Given the description of an element on the screen output the (x, y) to click on. 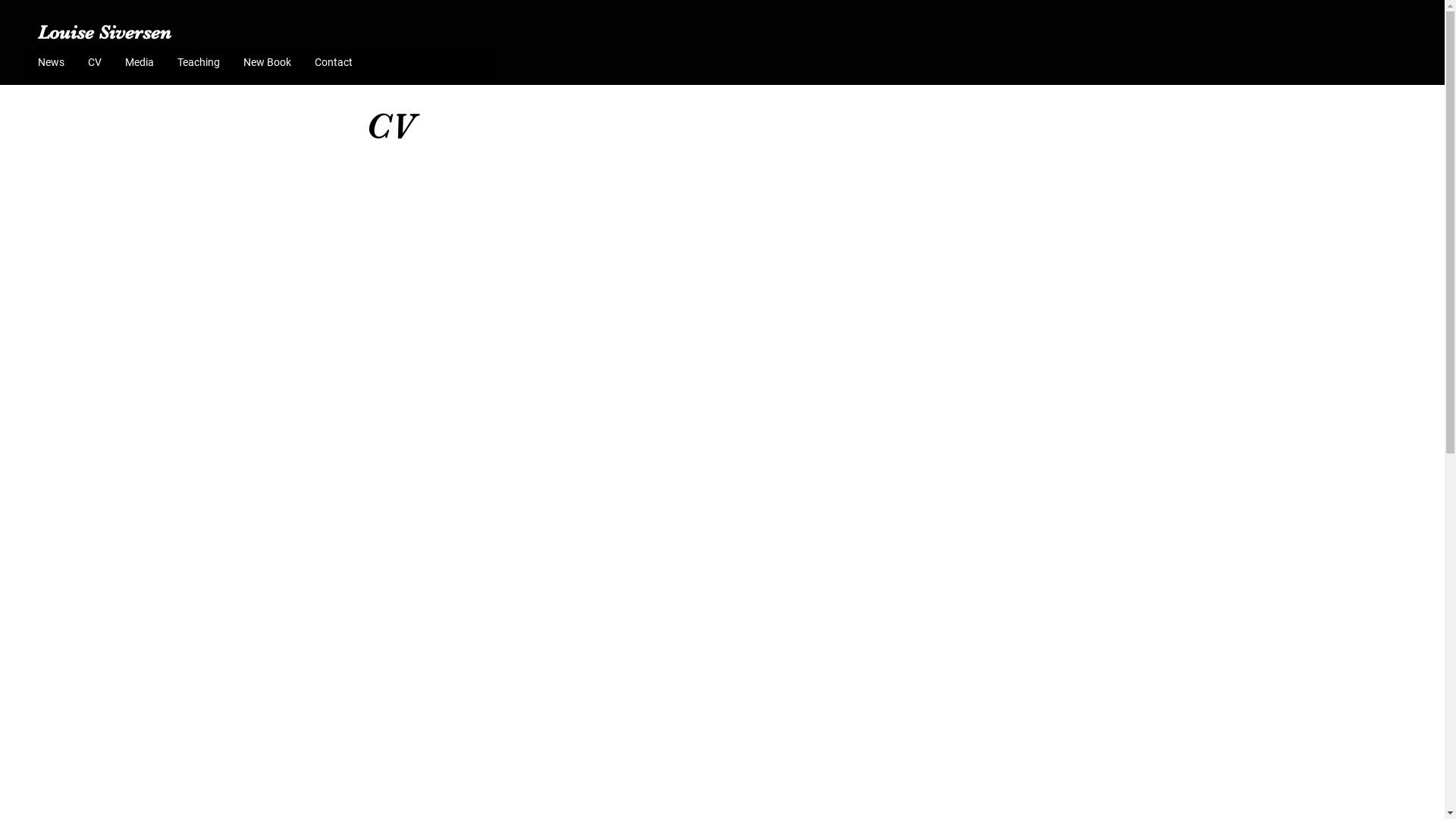
Louise Siversen Element type: text (101, 31)
News Element type: text (50, 62)
CV Element type: text (93, 62)
Teaching Element type: text (198, 62)
New Book Element type: text (266, 62)
Contact Element type: text (333, 62)
Media Element type: text (138, 62)
